Given the description of an element on the screen output the (x, y) to click on. 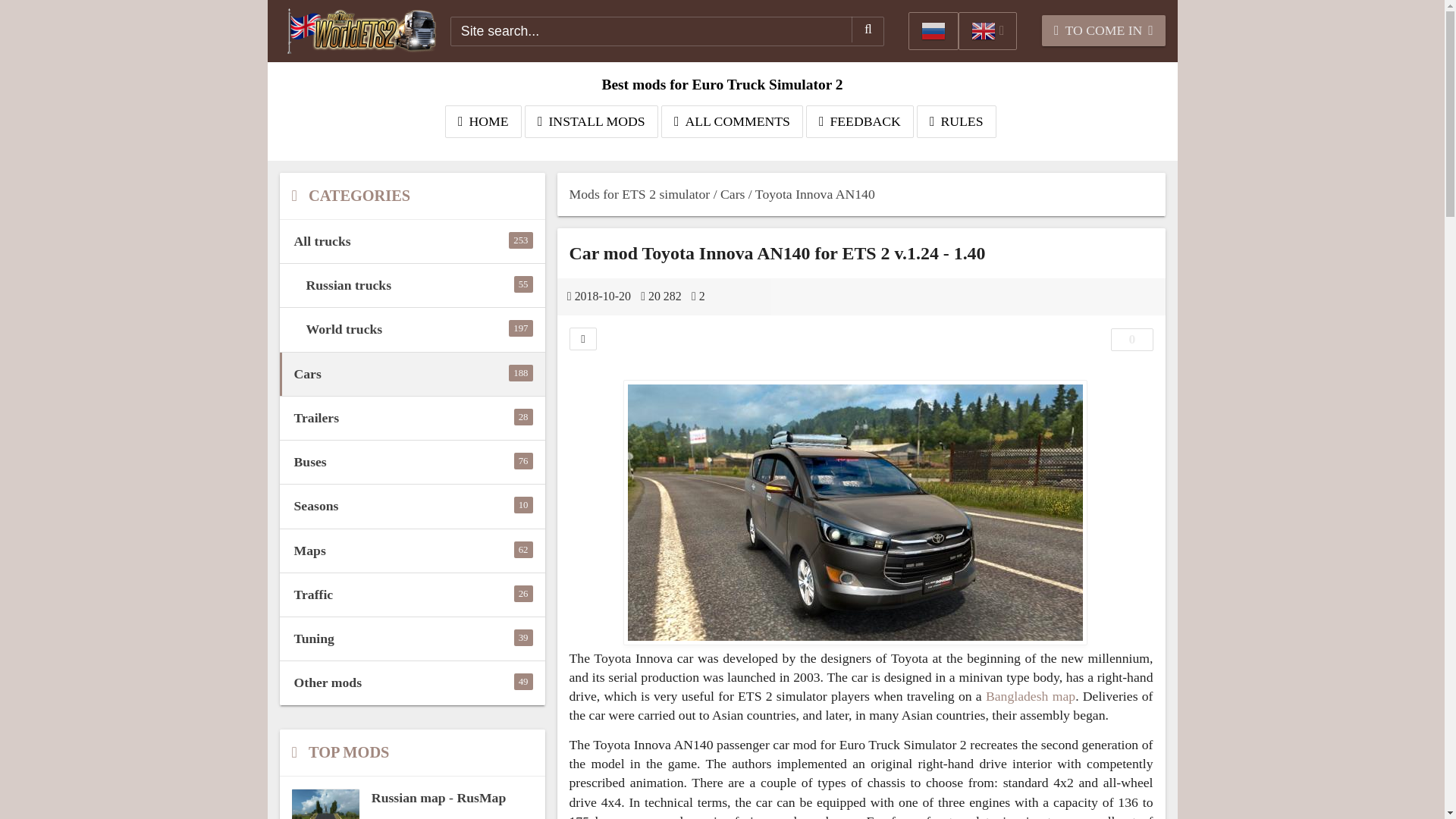
Other mods for ETS 2 (411, 682)
Seasons for ETS 2 (411, 505)
Russian (933, 30)
Russian trucks for ETS 2 (411, 285)
FEEDBACK (411, 373)
World trucks for ETS 2 (860, 121)
To find (411, 462)
Cars for ETS 2 (411, 329)
Buses for ETS 2 (867, 29)
English (411, 373)
INSTALL MODS (411, 462)
